Given the description of an element on the screen output the (x, y) to click on. 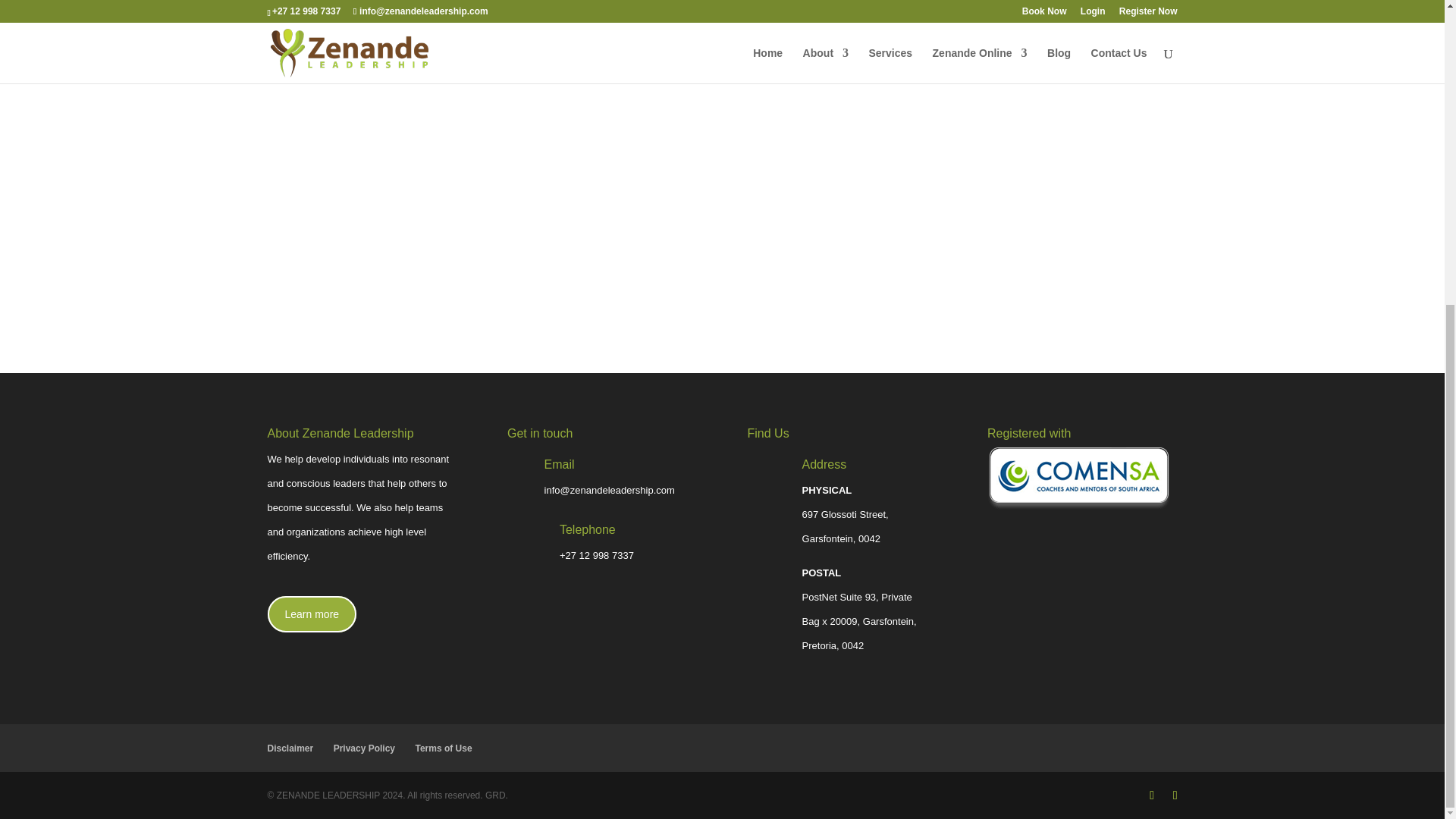
Learn more (311, 614)
Disclaimer (289, 747)
Terms of Use (442, 747)
Privacy Policy (363, 747)
